Given the description of an element on the screen output the (x, y) to click on. 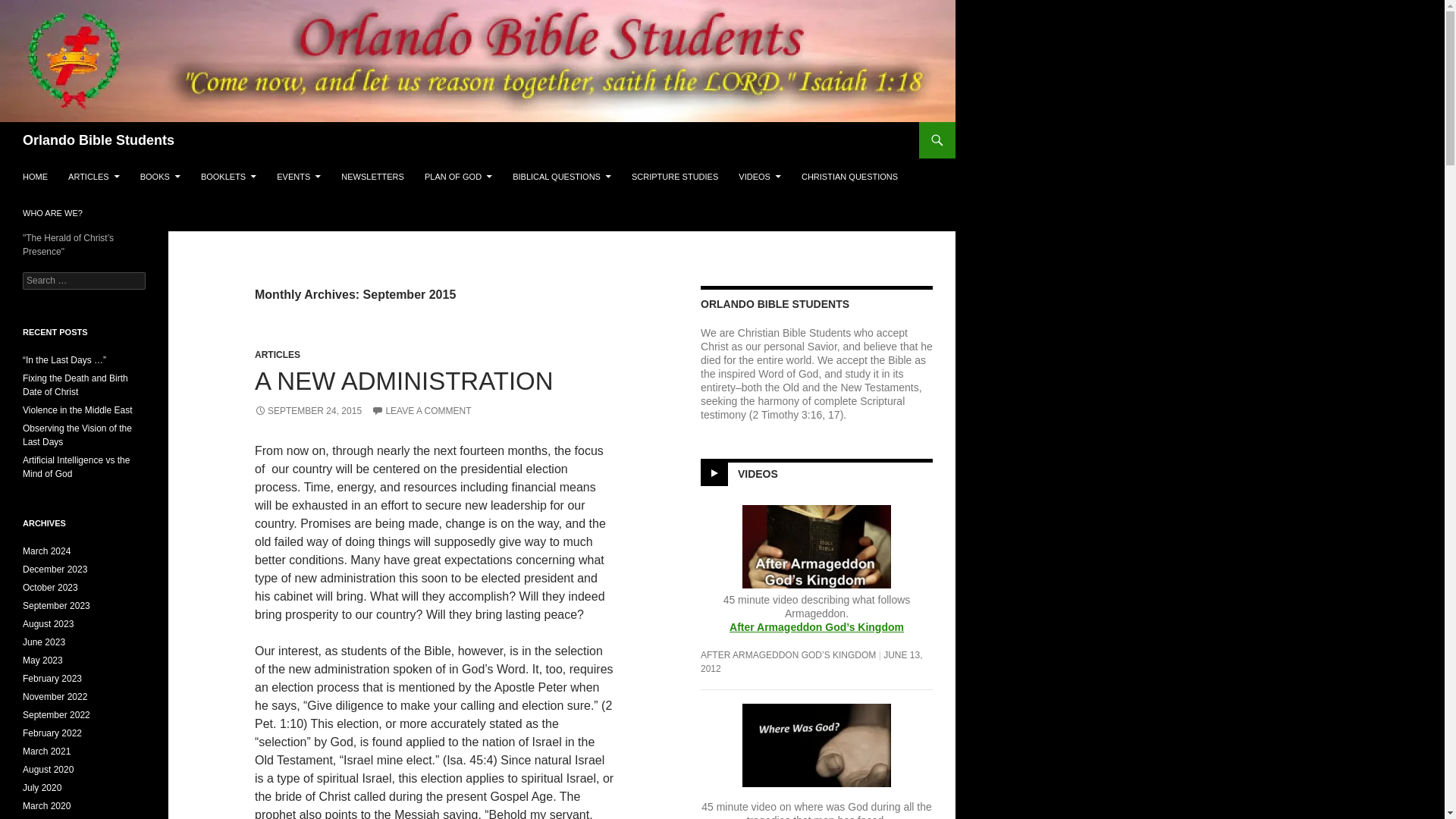
BOOKS (160, 176)
Orlando Bible Students (98, 140)
ARTICLES (94, 176)
BOOKLETS (228, 176)
After Armegeddon God's Kingdom (816, 626)
Where Was God? (816, 743)
EVENTS (298, 176)
After Armageddon God's Kingdom (816, 555)
HOME (34, 176)
